Given the description of an element on the screen output the (x, y) to click on. 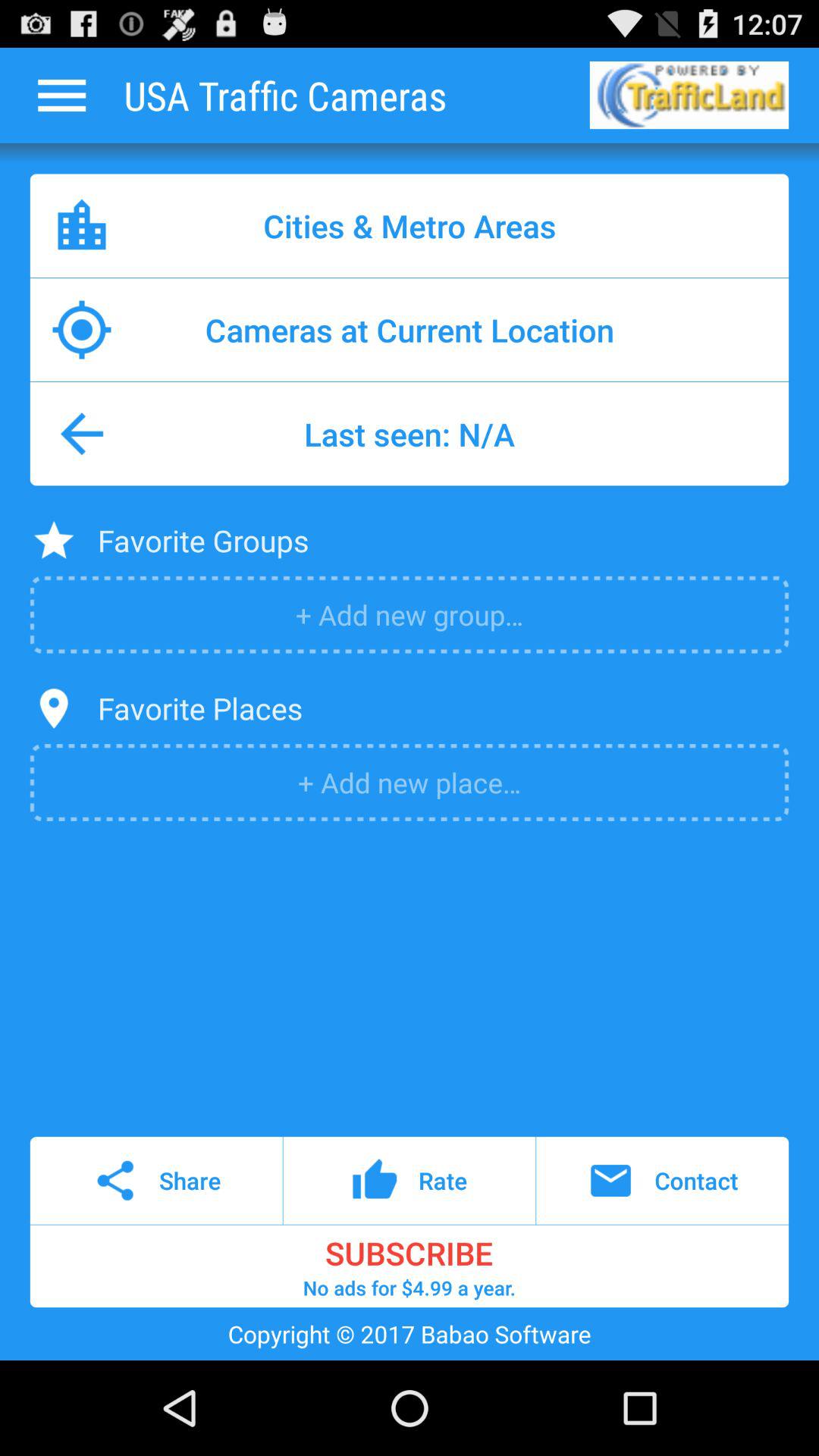
open options (61, 95)
